Given the description of an element on the screen output the (x, y) to click on. 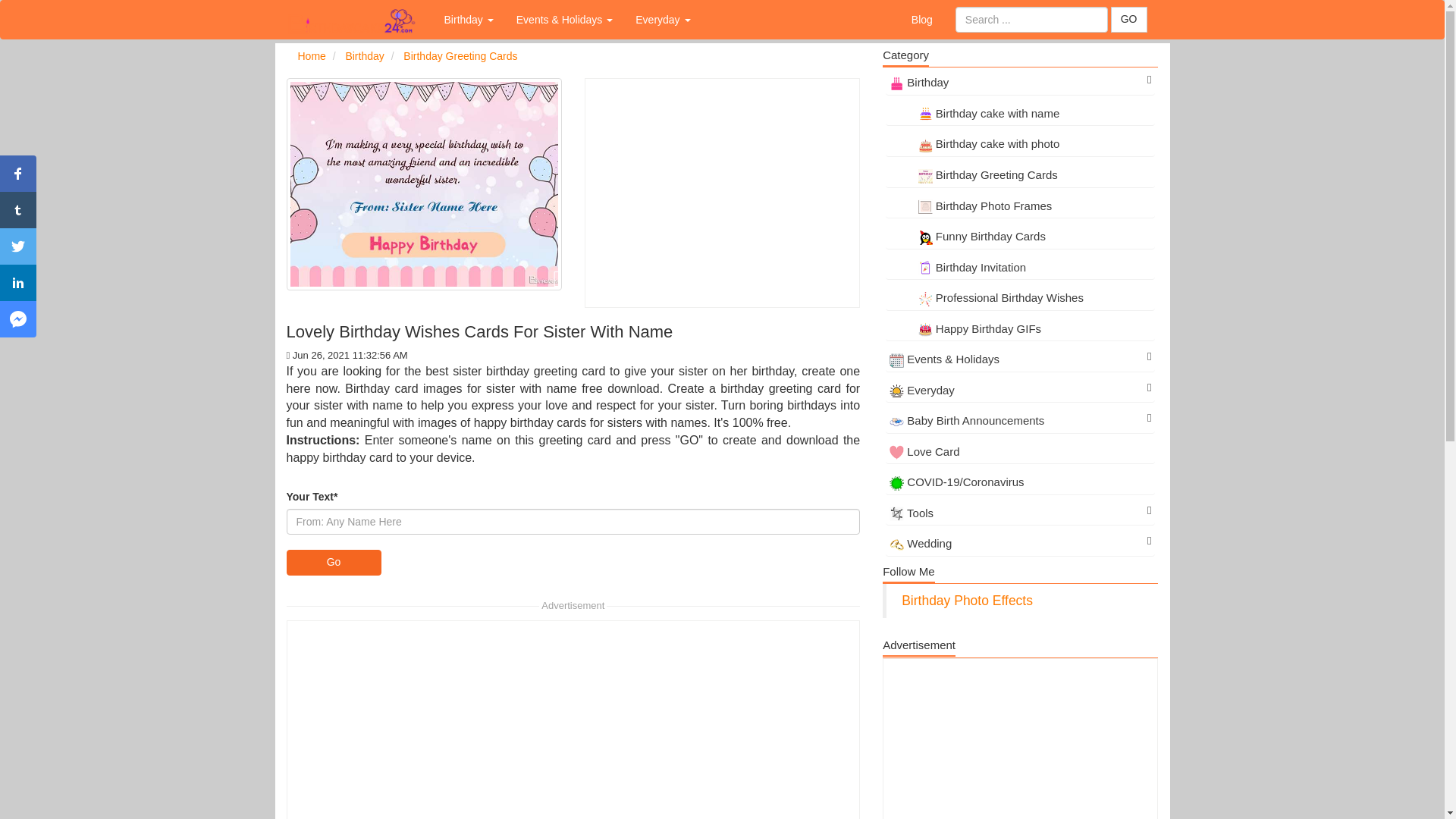
Birthday (468, 19)
Create birthday cards online, Create holiday cards online (353, 19)
Lovely Birthday Wishes Cards For Sister With Name (424, 183)
blog  (921, 19)
Go (333, 562)
